Given the description of an element on the screen output the (x, y) to click on. 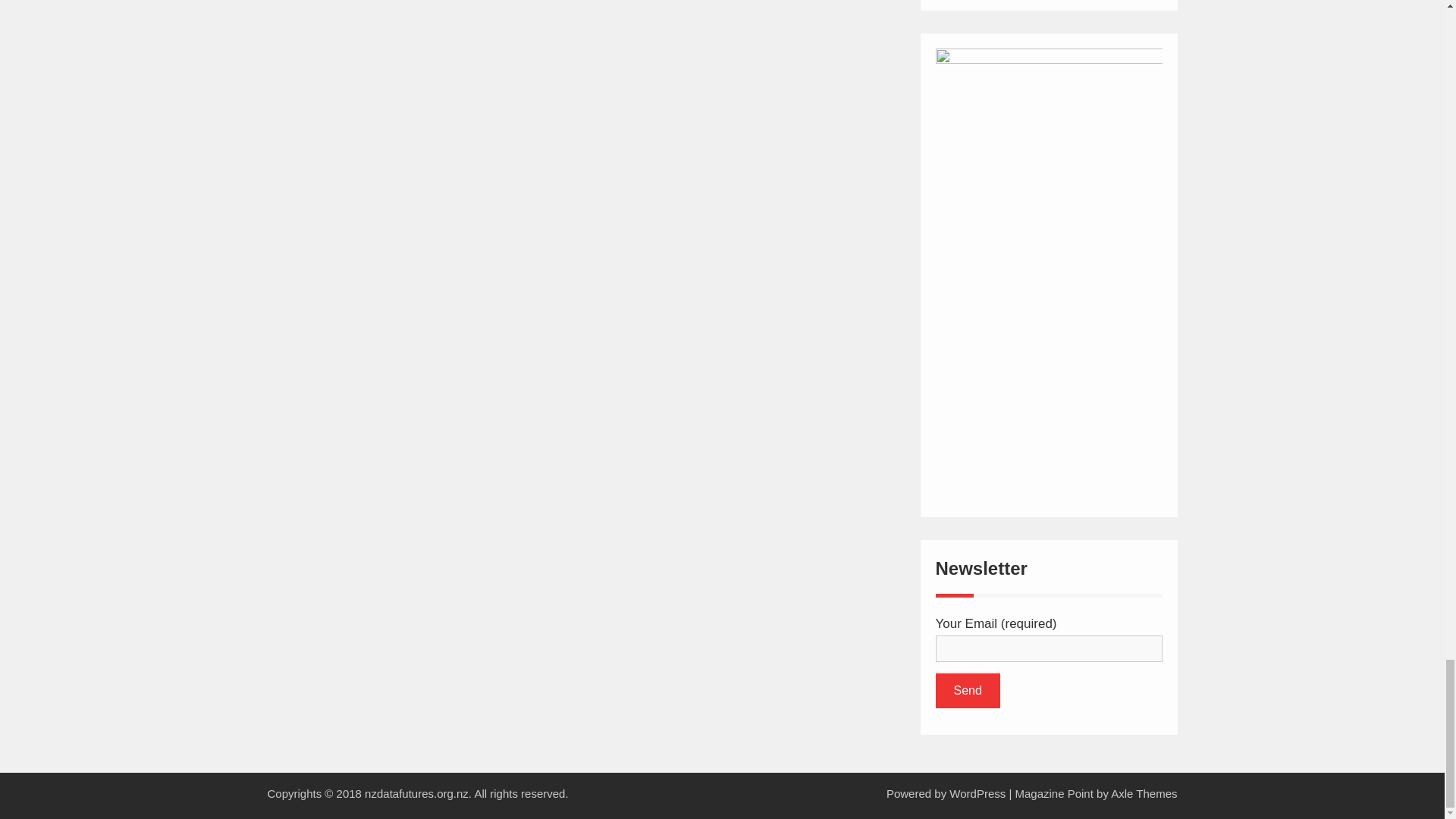
Send (968, 690)
